Given the description of an element on the screen output the (x, y) to click on. 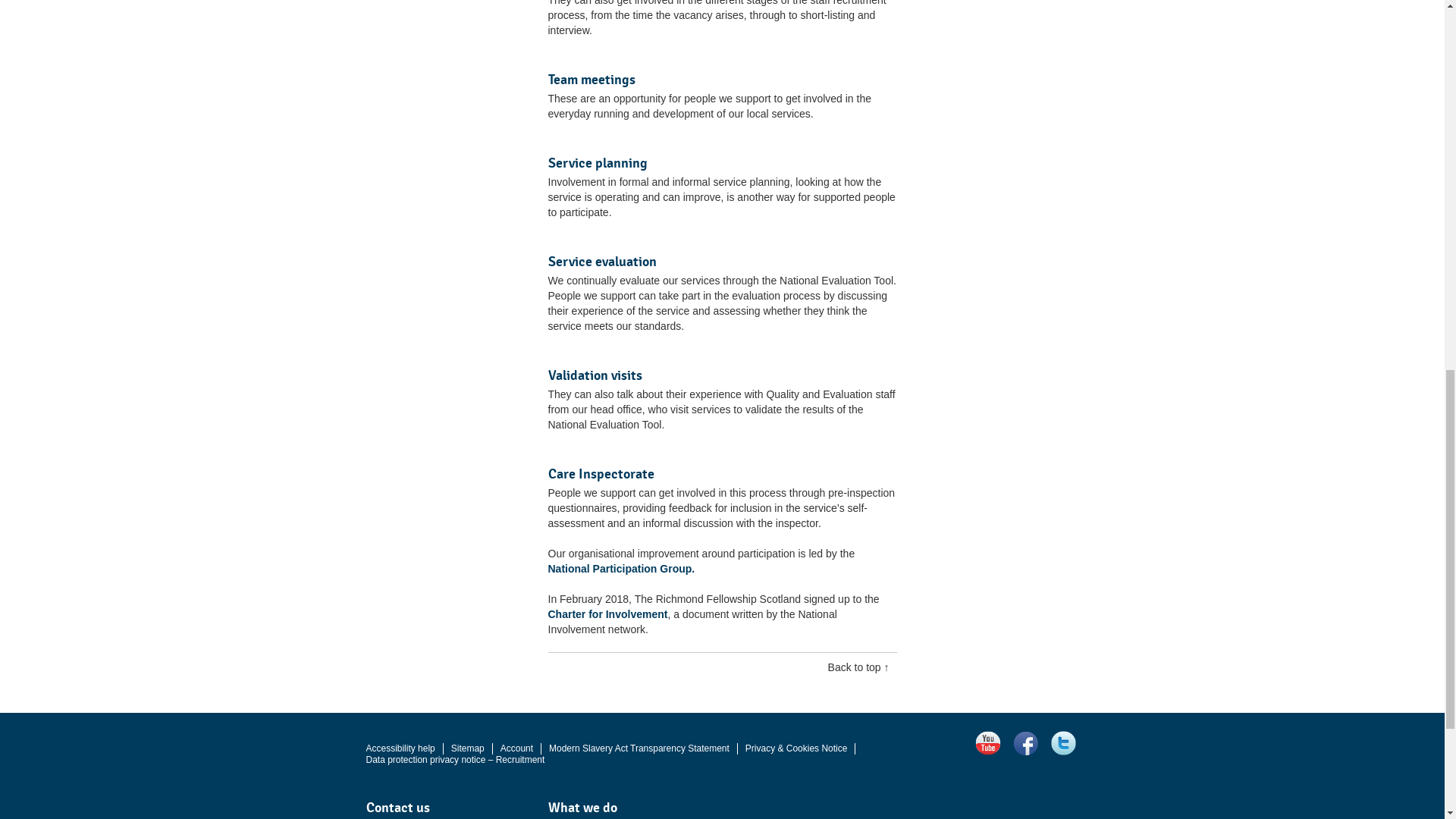
Account (516, 748)
Charter for Involvement (606, 613)
Modern Slavery Act Transparency Statement (638, 748)
Facebook (1025, 743)
YouTube (987, 743)
Twitter (1063, 743)
Sitemap (467, 748)
Accessibility help (399, 748)
National Participation Group. (620, 568)
